Given the description of an element on the screen output the (x, y) to click on. 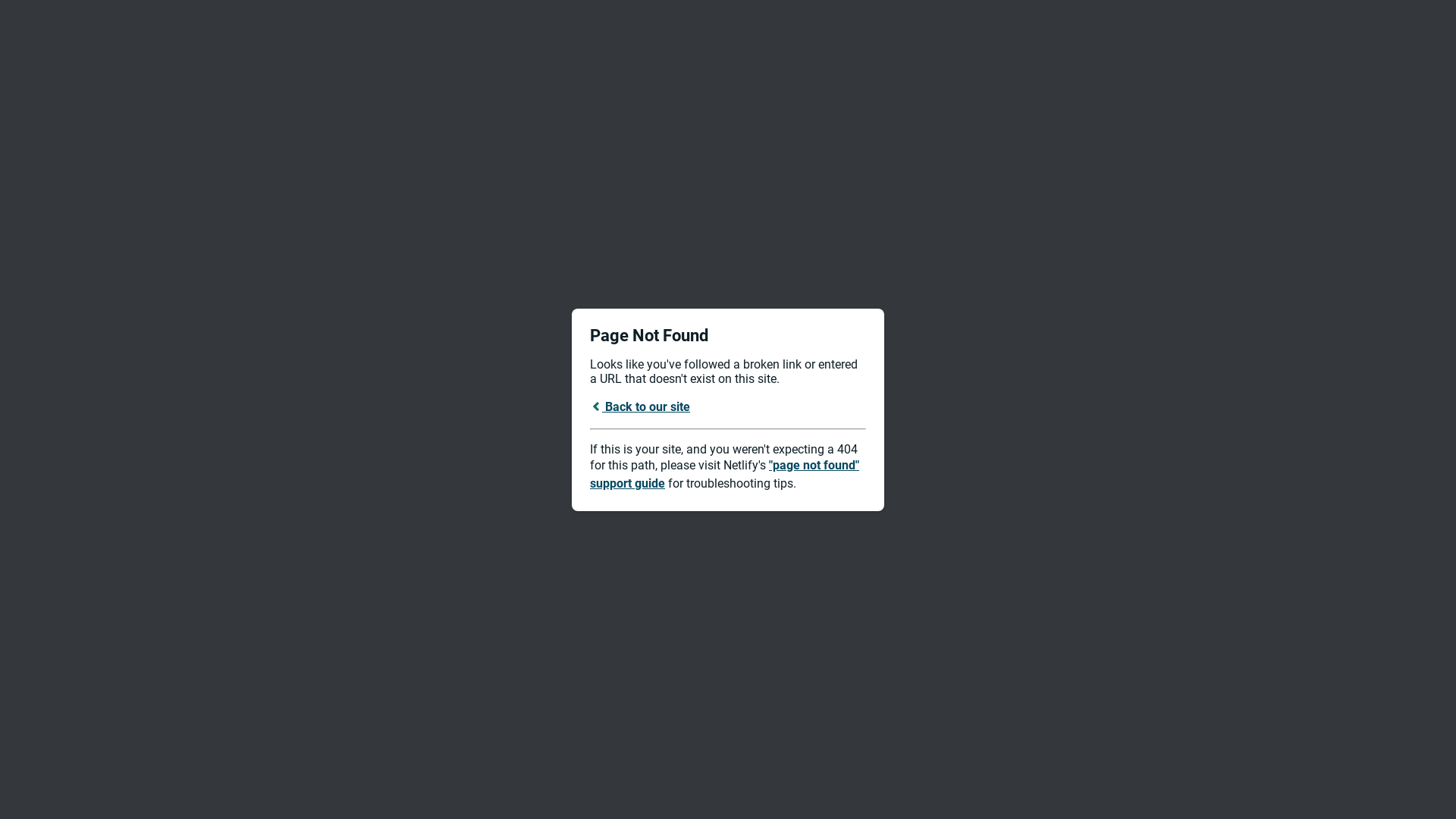
Back to our site Element type: text (639, 405)
"page not found" support guide Element type: text (724, 474)
